Given the description of an element on the screen output the (x, y) to click on. 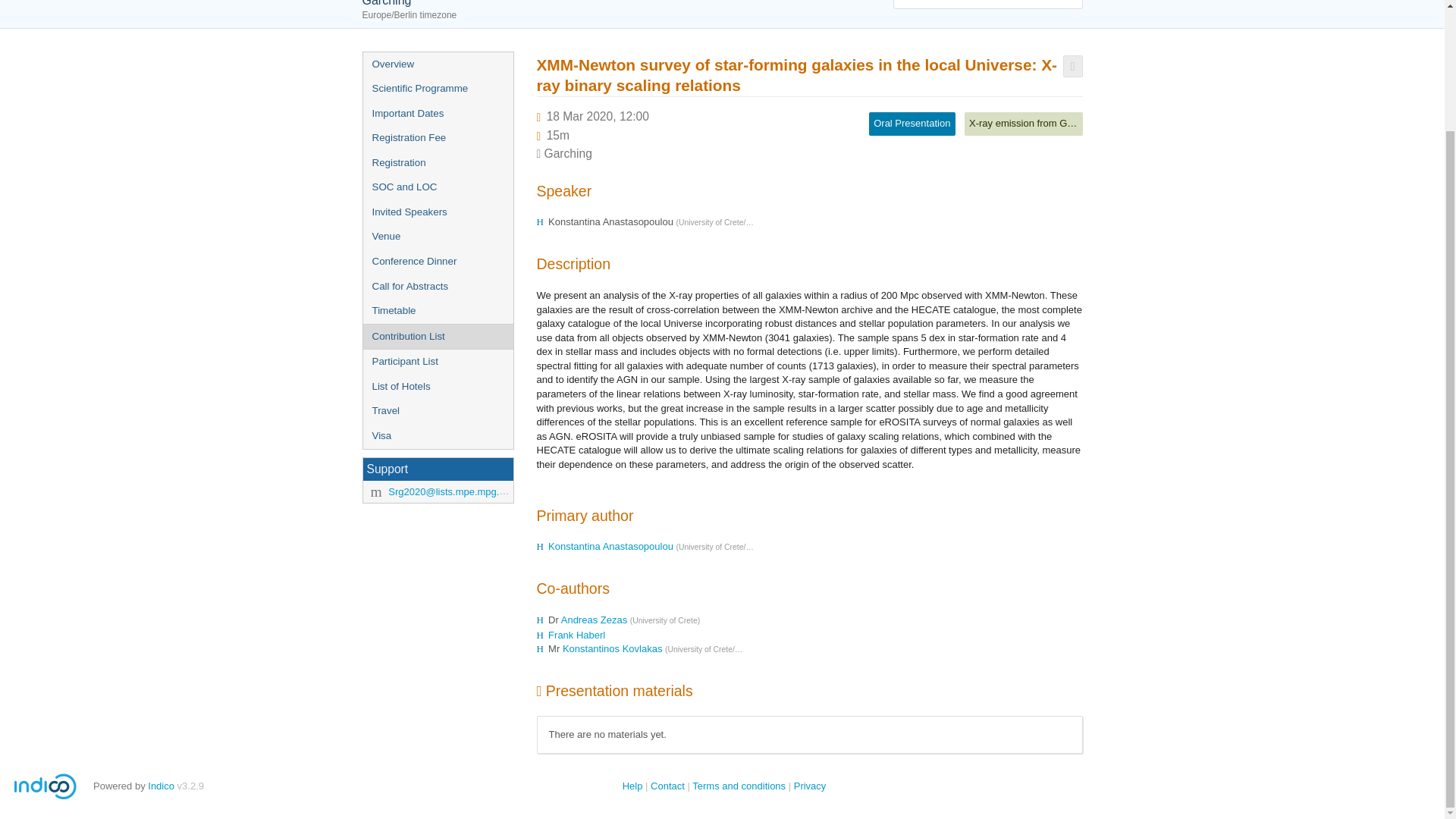
Invited Speakers (437, 212)
Duration (558, 134)
Registration Fee (437, 138)
SOC and LOC (437, 187)
Export (1072, 65)
Important Dates (437, 113)
Overview (437, 64)
Scientific Programme (437, 88)
Registration (437, 163)
